Given the description of an element on the screen output the (x, y) to click on. 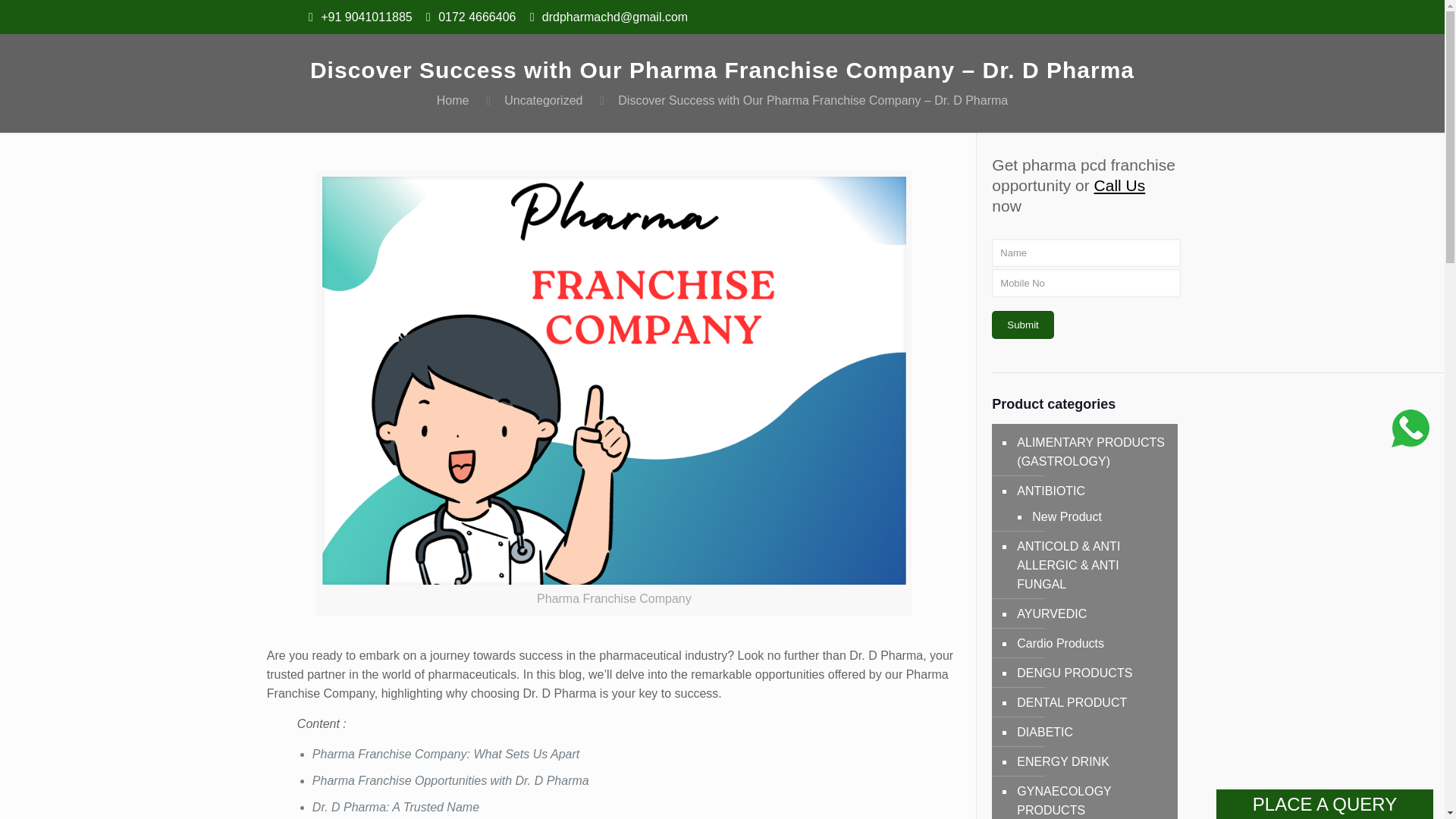
0172 4666406 (476, 16)
Submit (1021, 325)
AYURVEDIC (1091, 613)
Cardio Products (1091, 643)
Home (452, 100)
Call Us (1119, 185)
ANTIBIOTIC (1091, 490)
New Product (1095, 516)
Submit (1021, 325)
Uncategorized (542, 100)
